Given the description of an element on the screen output the (x, y) to click on. 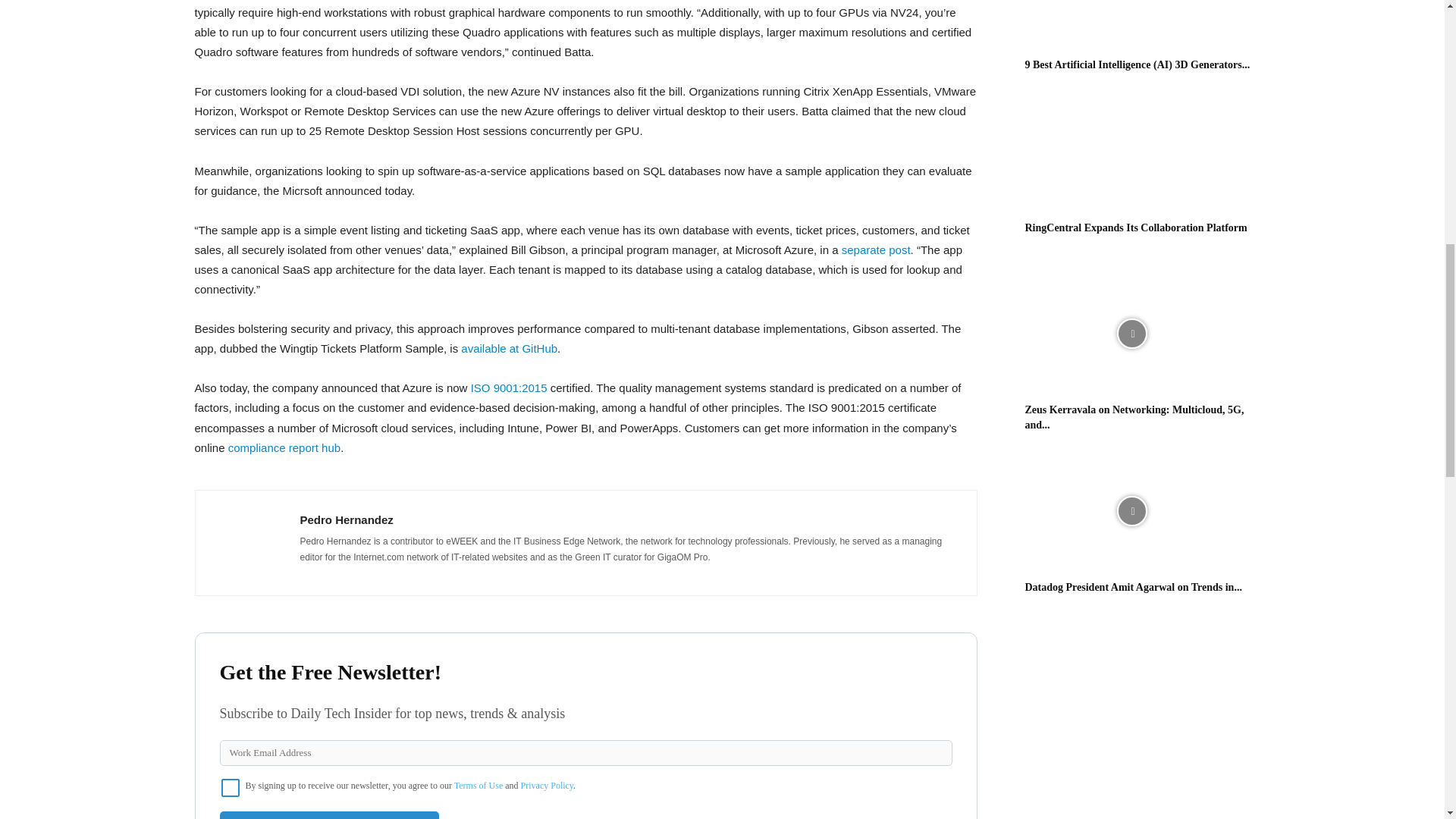
Zeus Kerravala on Networking: Multicloud, 5G, and Automation (1134, 417)
RingCentral Expands Its Collaboration Platform (1131, 151)
RingCentral Expands Its Collaboration Platform (1136, 227)
on (230, 787)
Zeus Kerravala on Networking: Multicloud, 5G, and Automation (1131, 333)
